Given the description of an element on the screen output the (x, y) to click on. 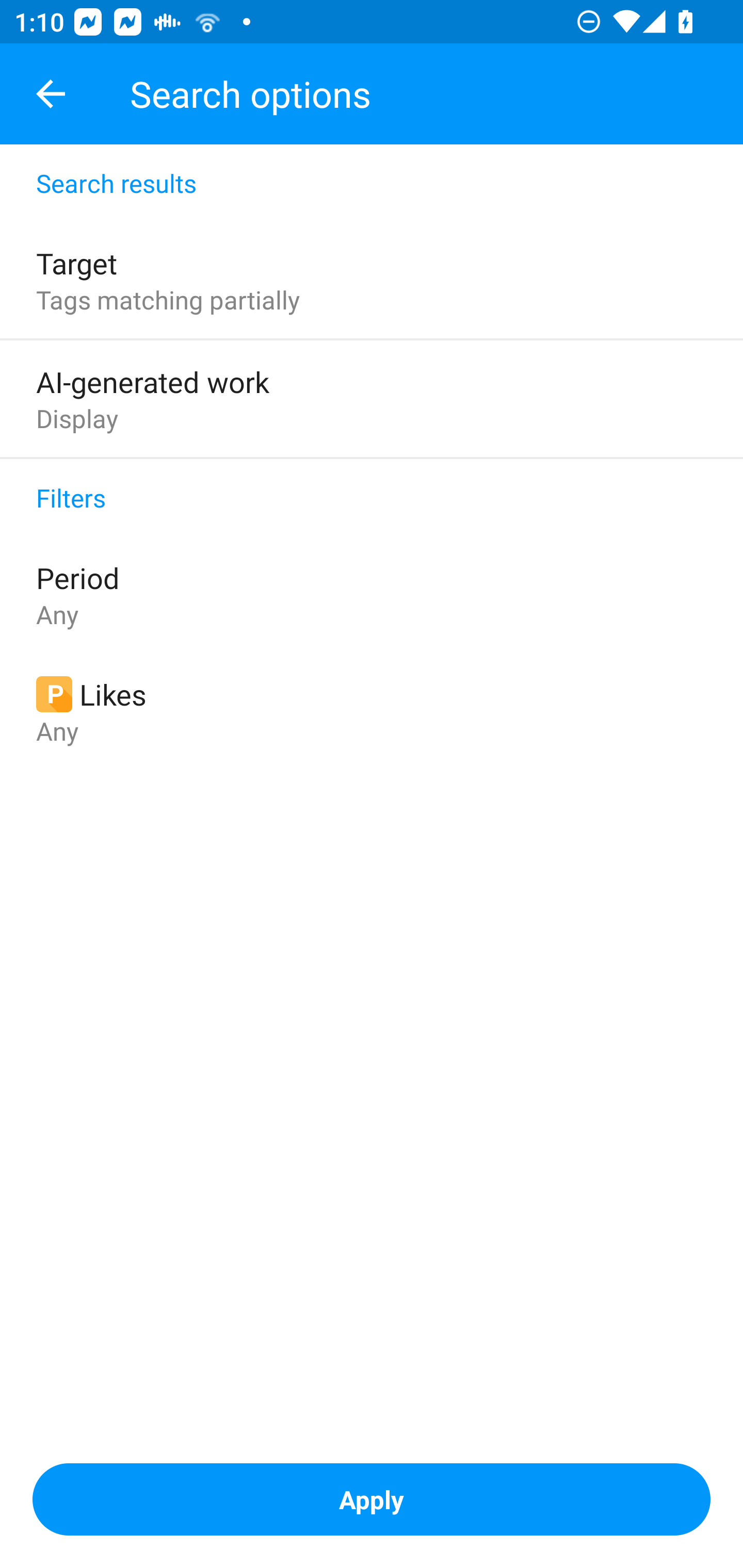
Navigate up (50, 93)
Target Tags matching partially (371, 279)
AI-generated work Display (371, 398)
Period Any (371, 594)
Likes Any (371, 710)
Apply (371, 1498)
